Given the description of an element on the screen output the (x, y) to click on. 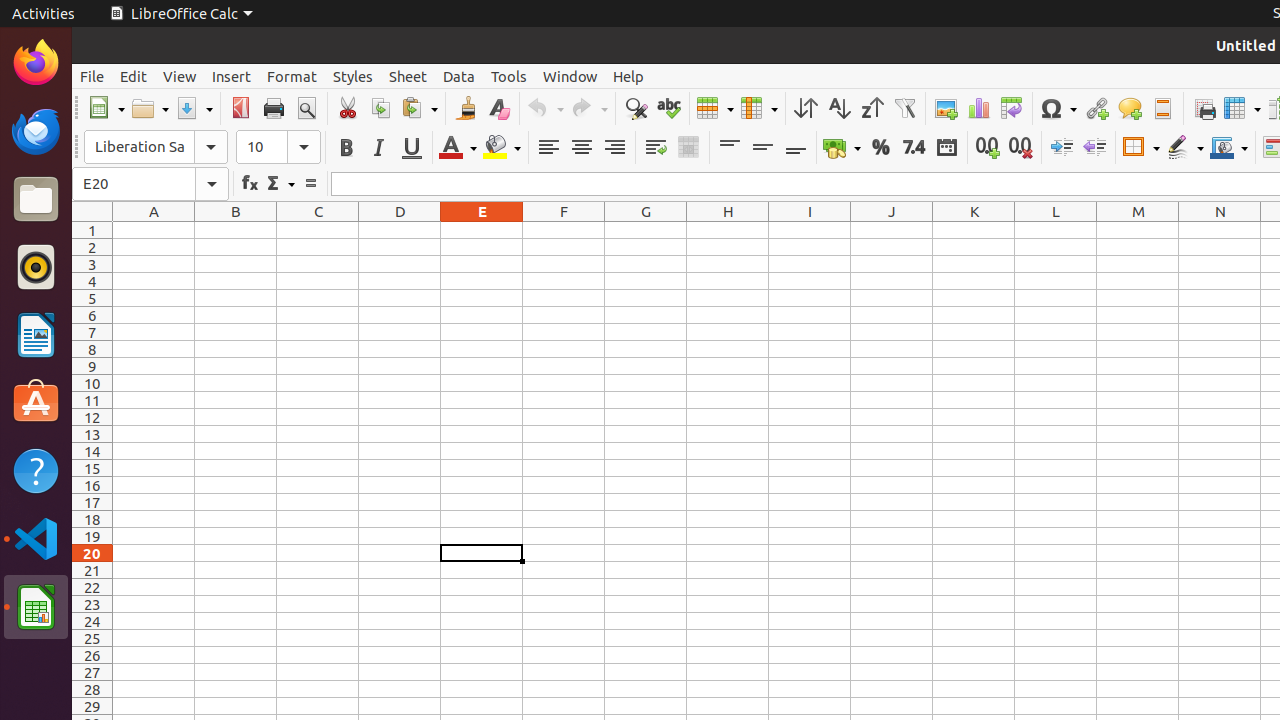
Align Right Element type: push-button (614, 147)
I1 Element type: table-cell (810, 230)
Add Decimal Place Element type: push-button (987, 147)
Insert Element type: menu (231, 76)
Redo Element type: push-button (589, 108)
